Given the description of an element on the screen output the (x, y) to click on. 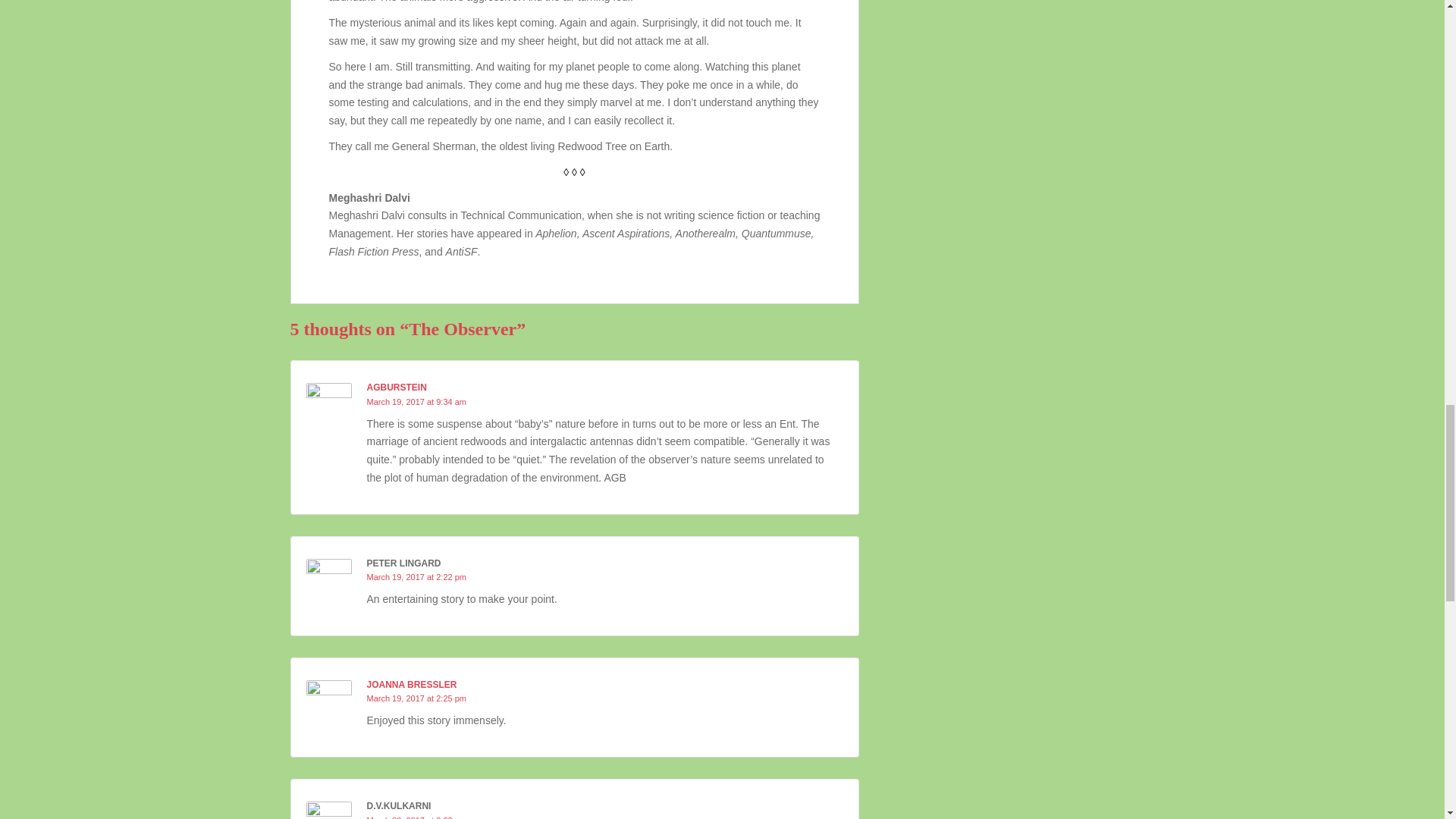
March 30, 2017 at 8:23 am (415, 817)
March 19, 2017 at 9:34 am (415, 401)
JOANNA BRESSLER (411, 684)
March 19, 2017 at 2:22 pm (415, 576)
AGBURSTEIN (396, 387)
March 19, 2017 at 2:25 pm (415, 697)
